Given the description of an element on the screen output the (x, y) to click on. 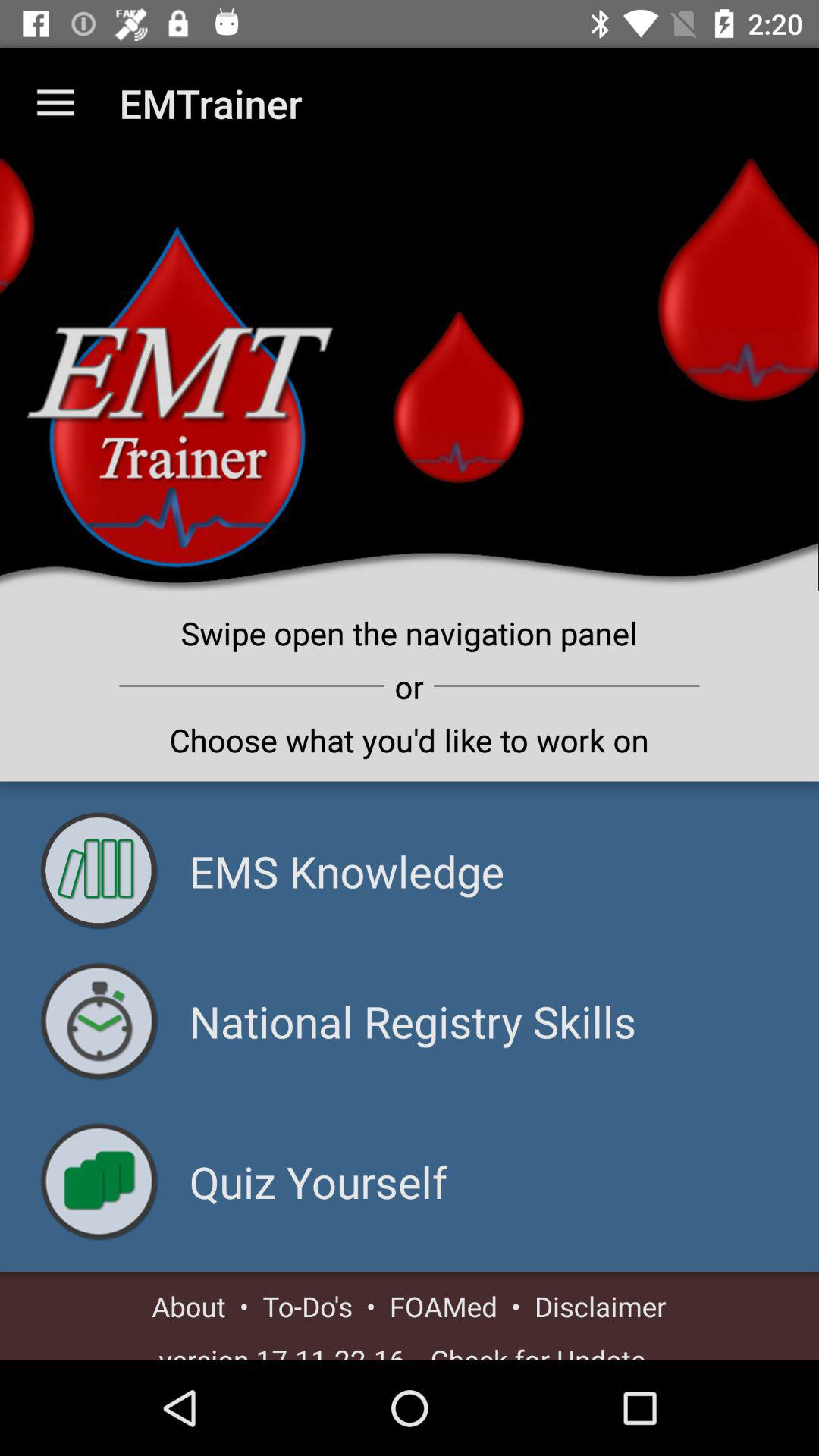
click about item (188, 1306)
